Given the description of an element on the screen output the (x, y) to click on. 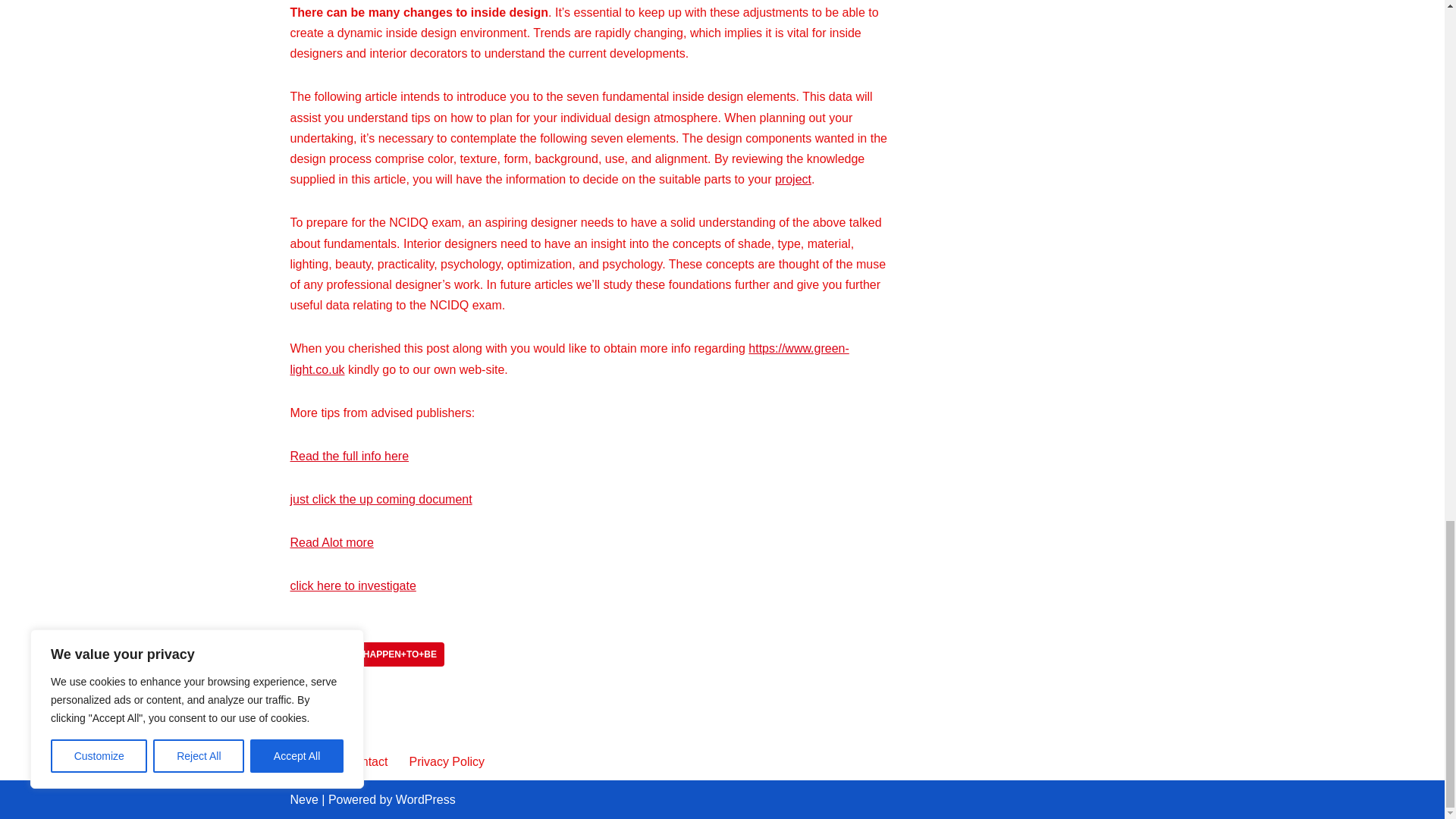
project (792, 178)
Read Alot more (330, 542)
click here to investigate (351, 585)
just click the up coming document (380, 499)
Read the full info here (349, 455)
